Given the description of an element on the screen output the (x, y) to click on. 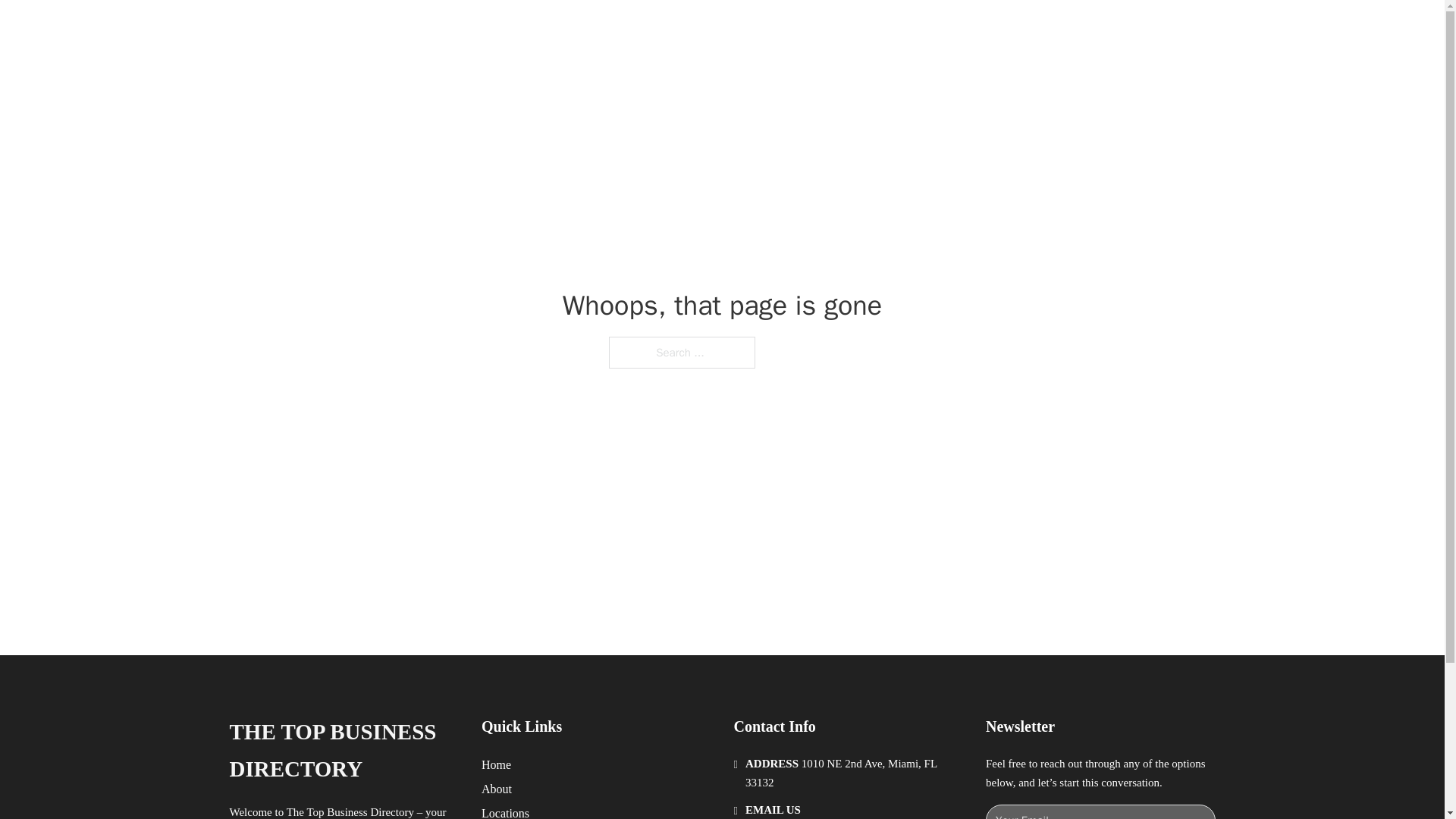
Locations (505, 811)
About (496, 788)
THE TOP BUSINESS DIRECTORY (463, 28)
Home (496, 764)
THE TOP BUSINESS DIRECTORY (343, 750)
HOME (919, 29)
LOCATIONS (990, 29)
